Given the description of an element on the screen output the (x, y) to click on. 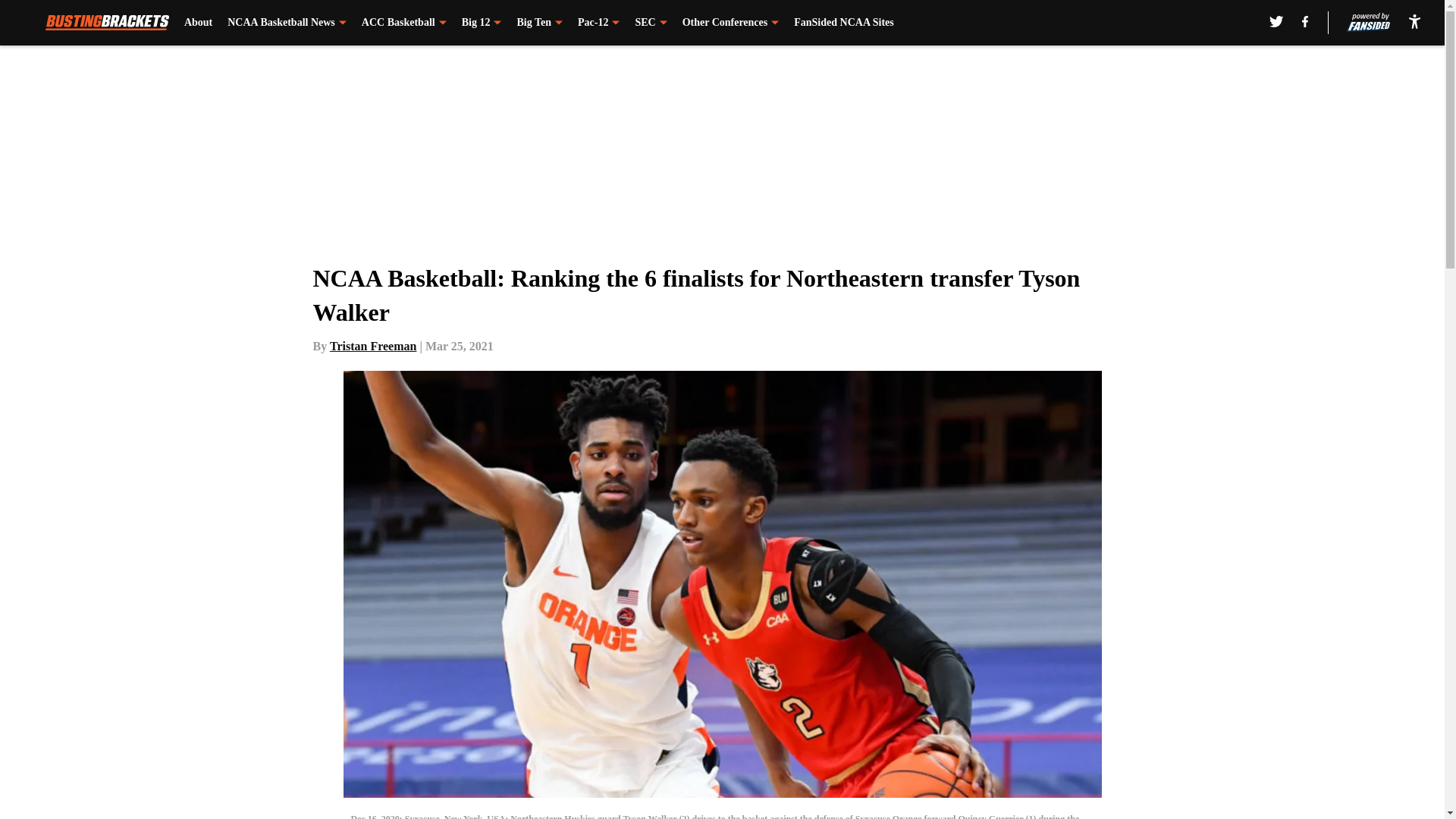
About (198, 22)
